Given the description of an element on the screen output the (x, y) to click on. 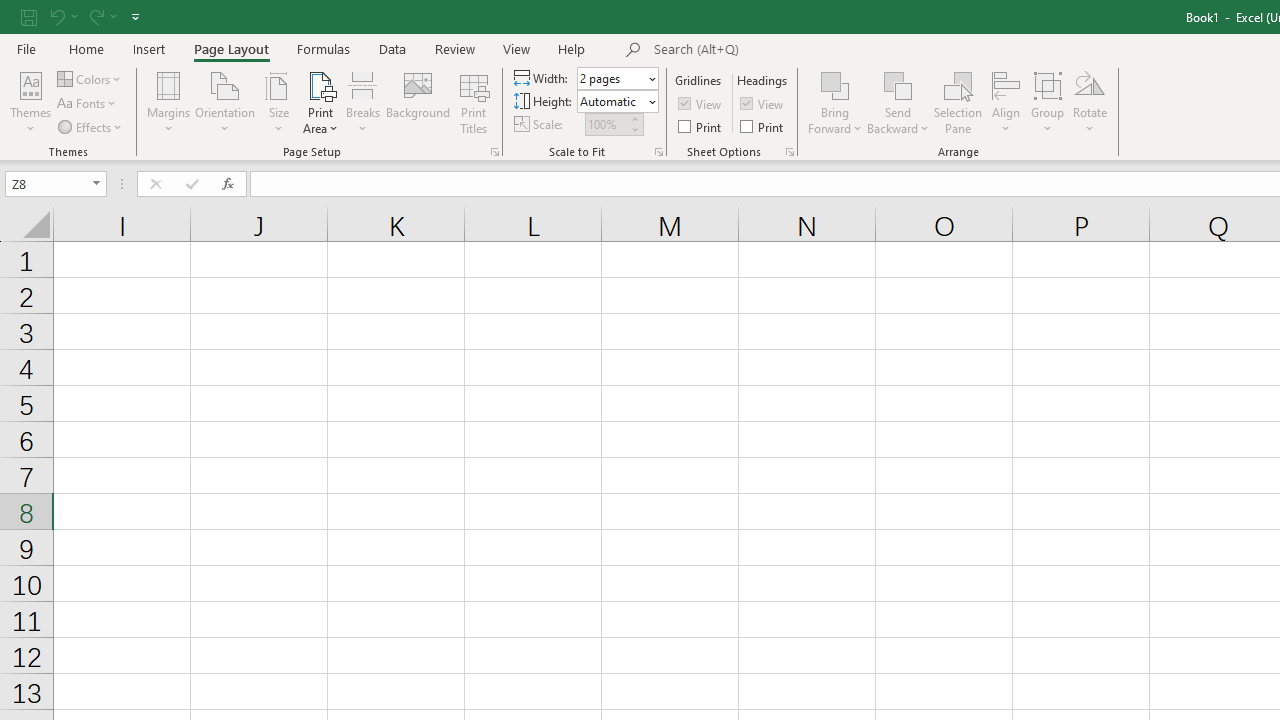
Undo (56, 15)
View (517, 48)
Sheet Options (789, 151)
Print Area (320, 102)
Less (633, 129)
Fonts (87, 103)
Name Box (56, 183)
Width (618, 78)
Formulas (323, 48)
Customize Quick Access Toolbar (135, 15)
Insert (149, 48)
Height (611, 101)
Print (763, 126)
Margins (168, 102)
Page Layout (230, 48)
